Given the description of an element on the screen output the (x, y) to click on. 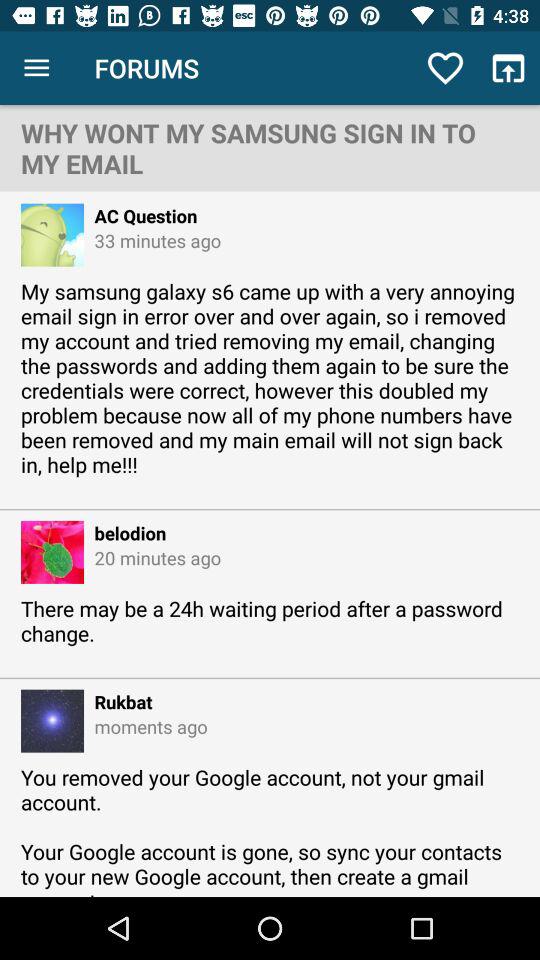
select the why wont my icon (270, 148)
